Given the description of an element on the screen output the (x, y) to click on. 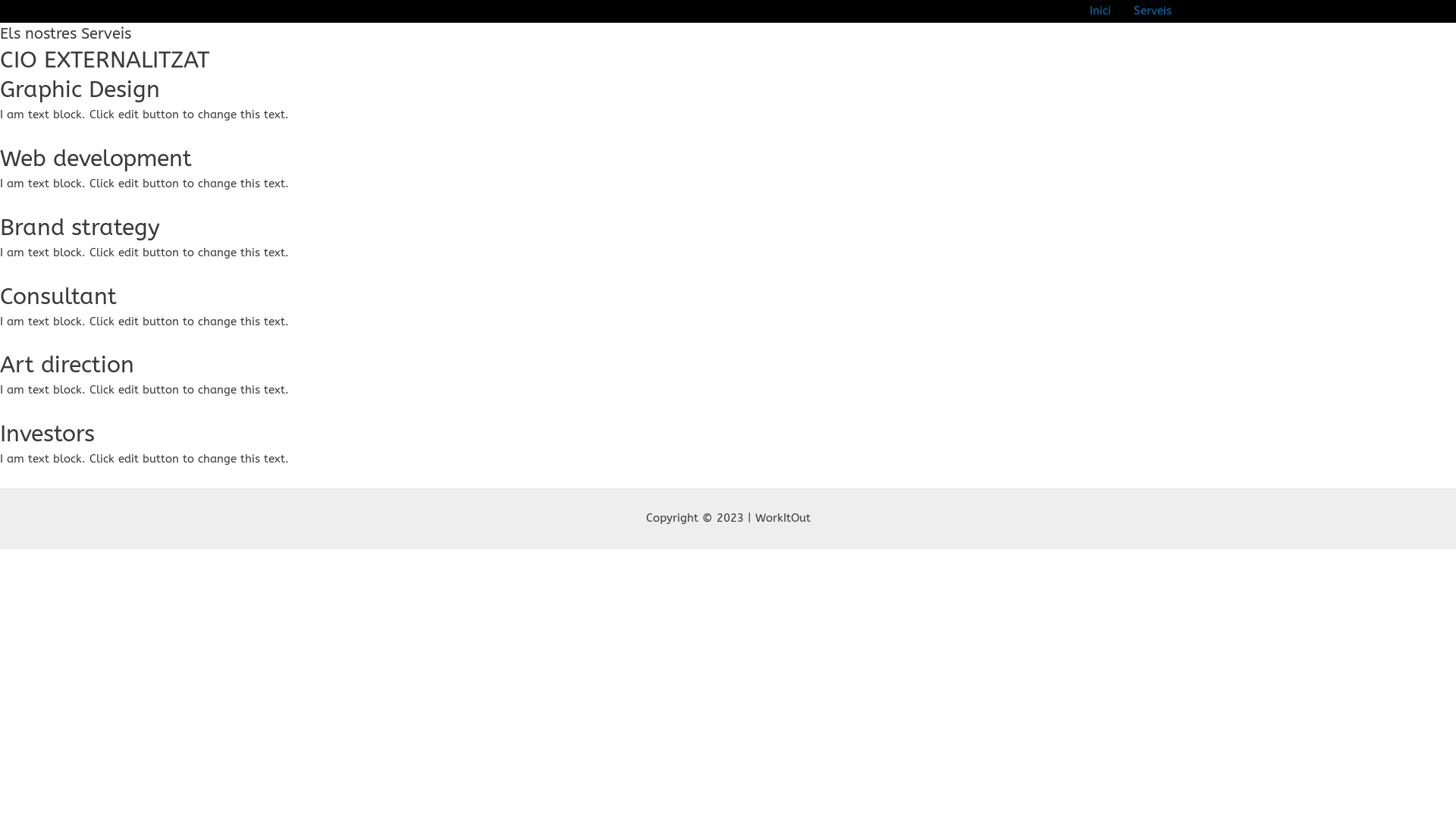
Serveis Element type: text (1152, 10)
Inici Element type: text (1100, 10)
